Given the description of an element on the screen output the (x, y) to click on. 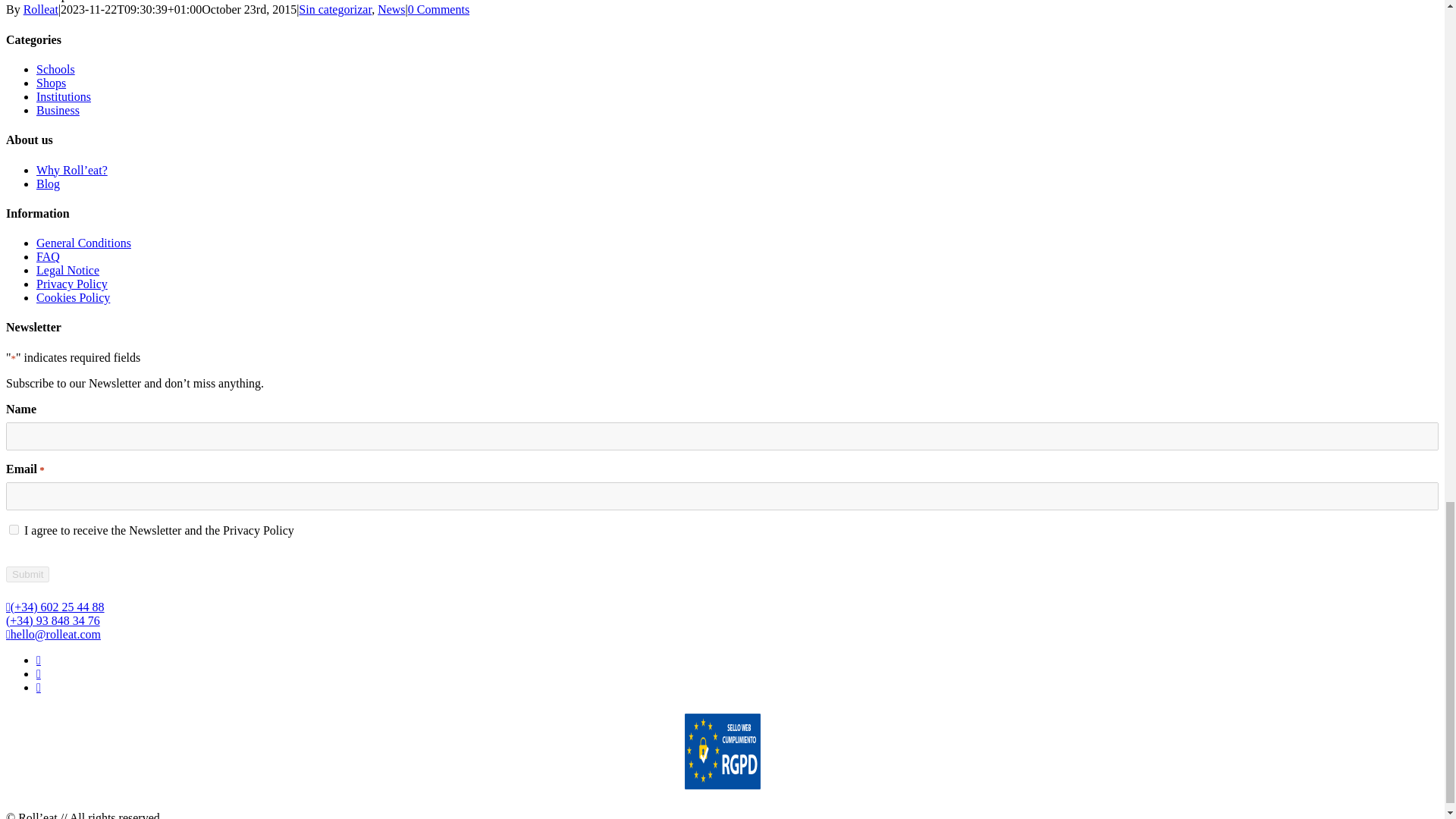
Submit (27, 574)
1 (13, 529)
Posts by Rolleat (40, 9)
